Given the description of an element on the screen output the (x, y) to click on. 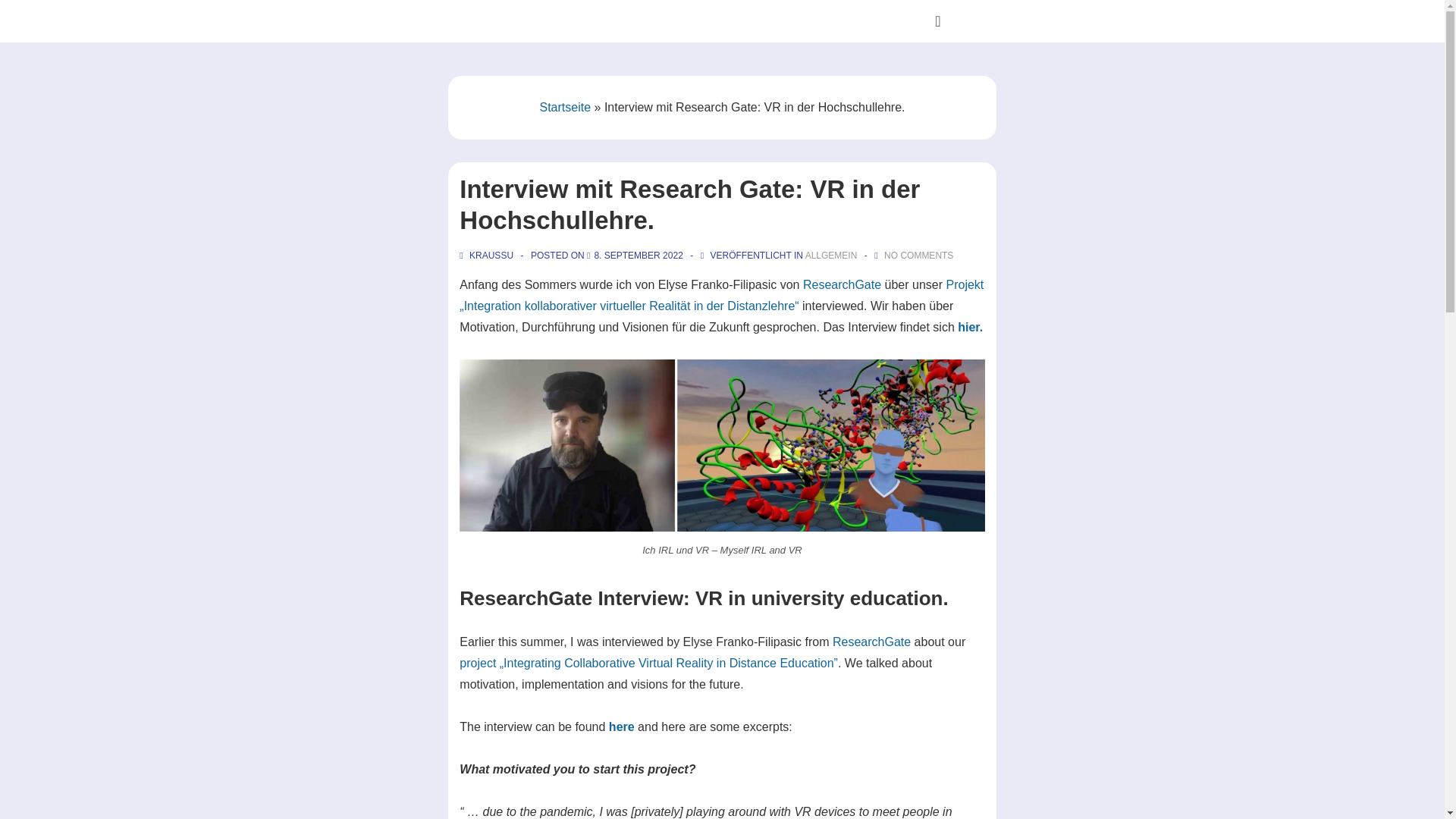
NO COMMENTS (918, 255)
here (621, 726)
ResearchGate (871, 641)
KRAUSSU (487, 255)
Startseite (564, 106)
hier. (970, 327)
MENU (937, 21)
Interview mit Research Gate: VR in der Hochschullehre. (638, 255)
ResearchGate (841, 284)
8. SEPTEMBER 2022 (638, 255)
ALLGEMEIN (831, 255)
